Given the description of an element on the screen output the (x, y) to click on. 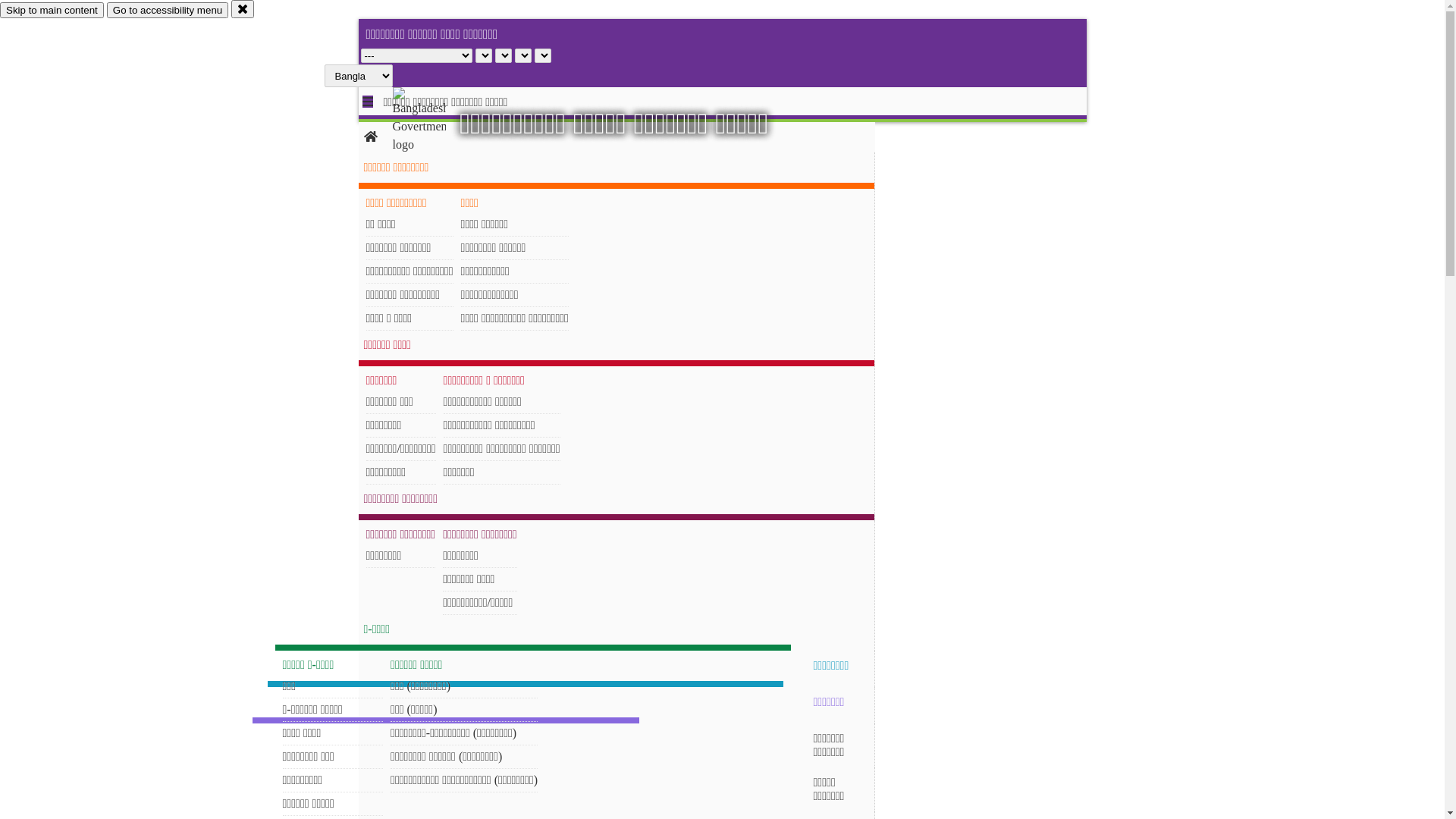
close Element type: hover (242, 9)

                
             Element type: hover (431, 120)
Go to accessibility menu Element type: text (167, 10)
Skip to main content Element type: text (51, 10)
